Given the description of an element on the screen output the (x, y) to click on. 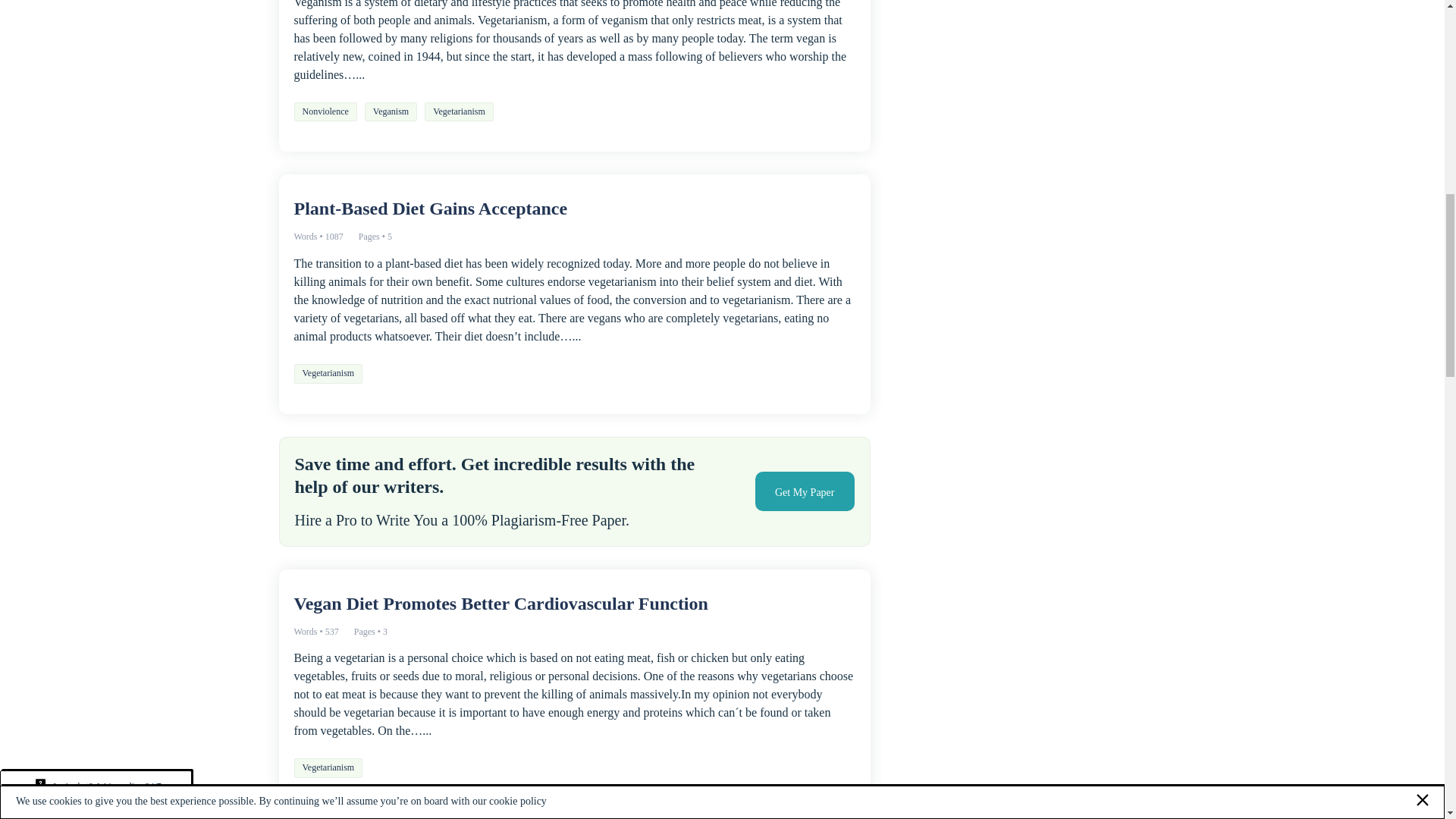
Get My Paper (804, 491)
Plant-Based Diet Gains Acceptance (575, 208)
Vegan Diet Promotes Better Cardiovascular Function (575, 603)
